Given the description of an element on the screen output the (x, y) to click on. 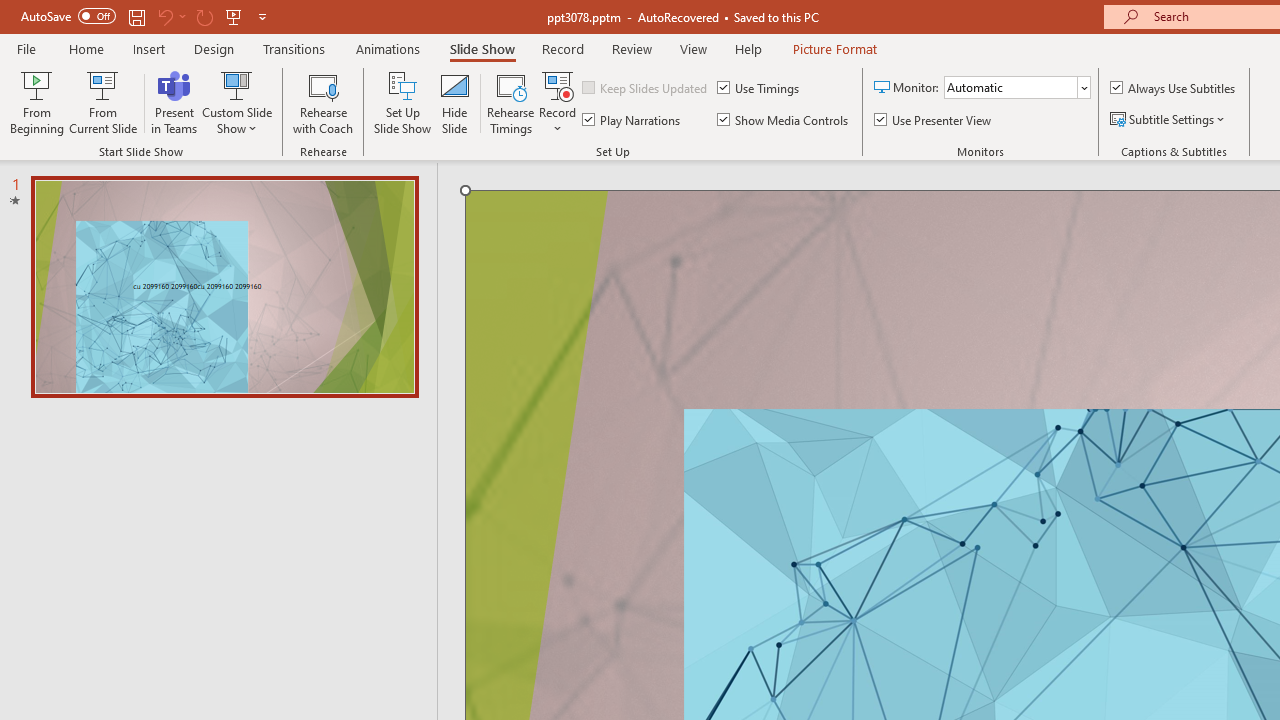
Show Media Controls (784, 119)
Rehearse with Coach (322, 102)
Play Narrations (632, 119)
